Given the description of an element on the screen output the (x, y) to click on. 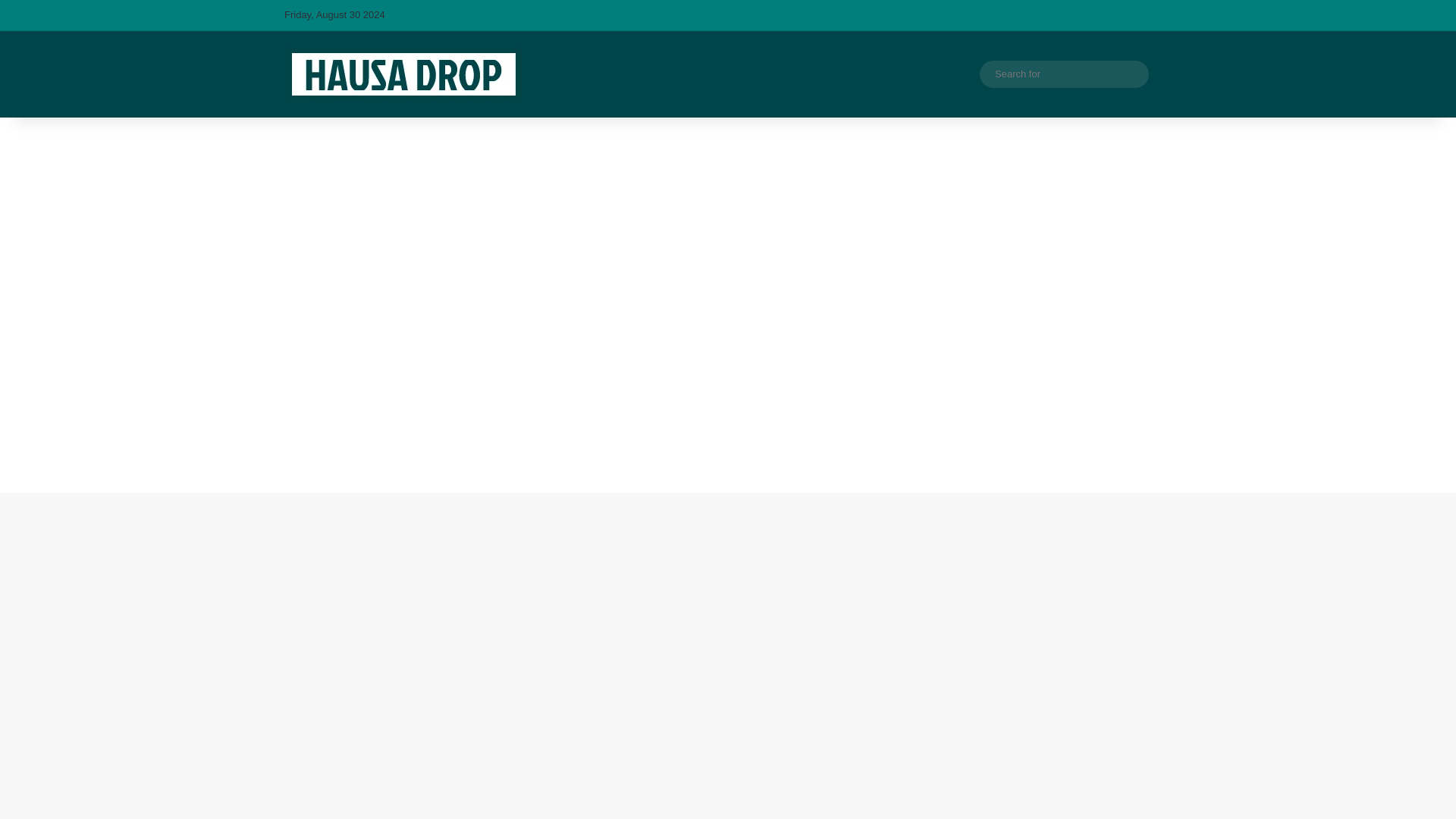
HausaDrop.com (402, 73)
Search for (1063, 73)
Search for (1133, 73)
